Given the description of an element on the screen output the (x, y) to click on. 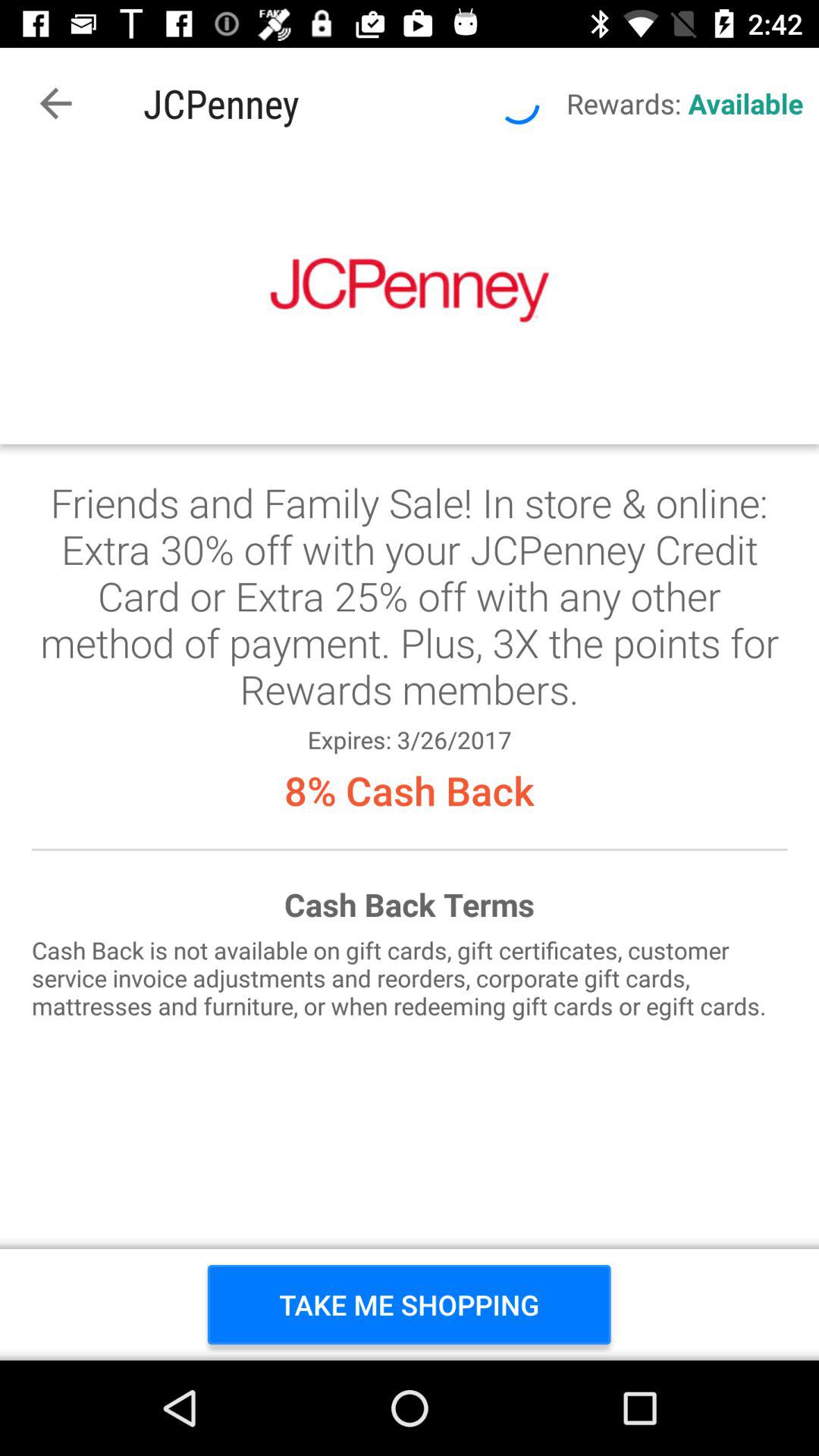
tap the item next to jcpenney app (55, 103)
